Given the description of an element on the screen output the (x, y) to click on. 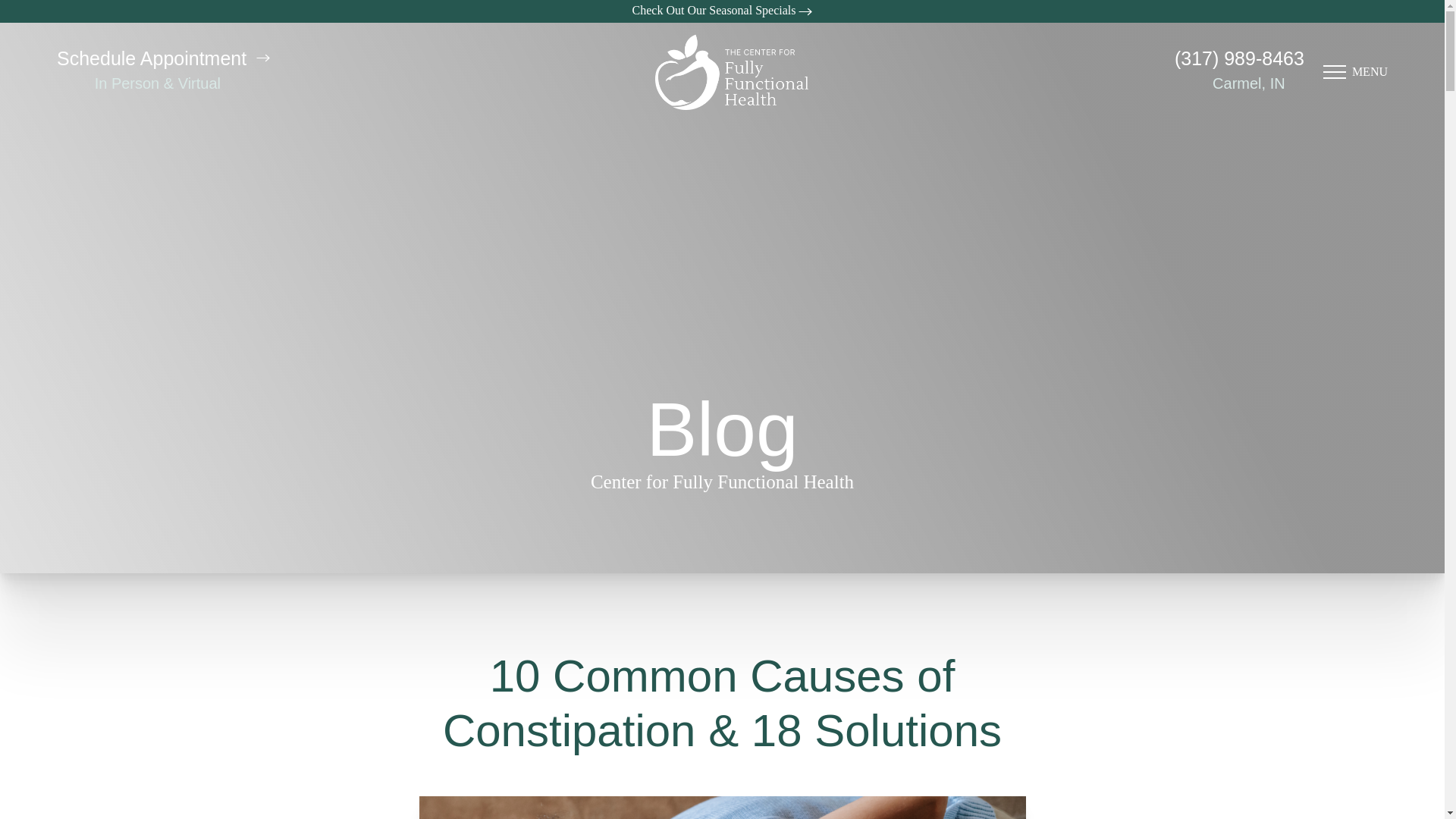
Check Out Our Seasonal Specials (721, 11)
Schedule Appointment (162, 57)
